Given the description of an element on the screen output the (x, y) to click on. 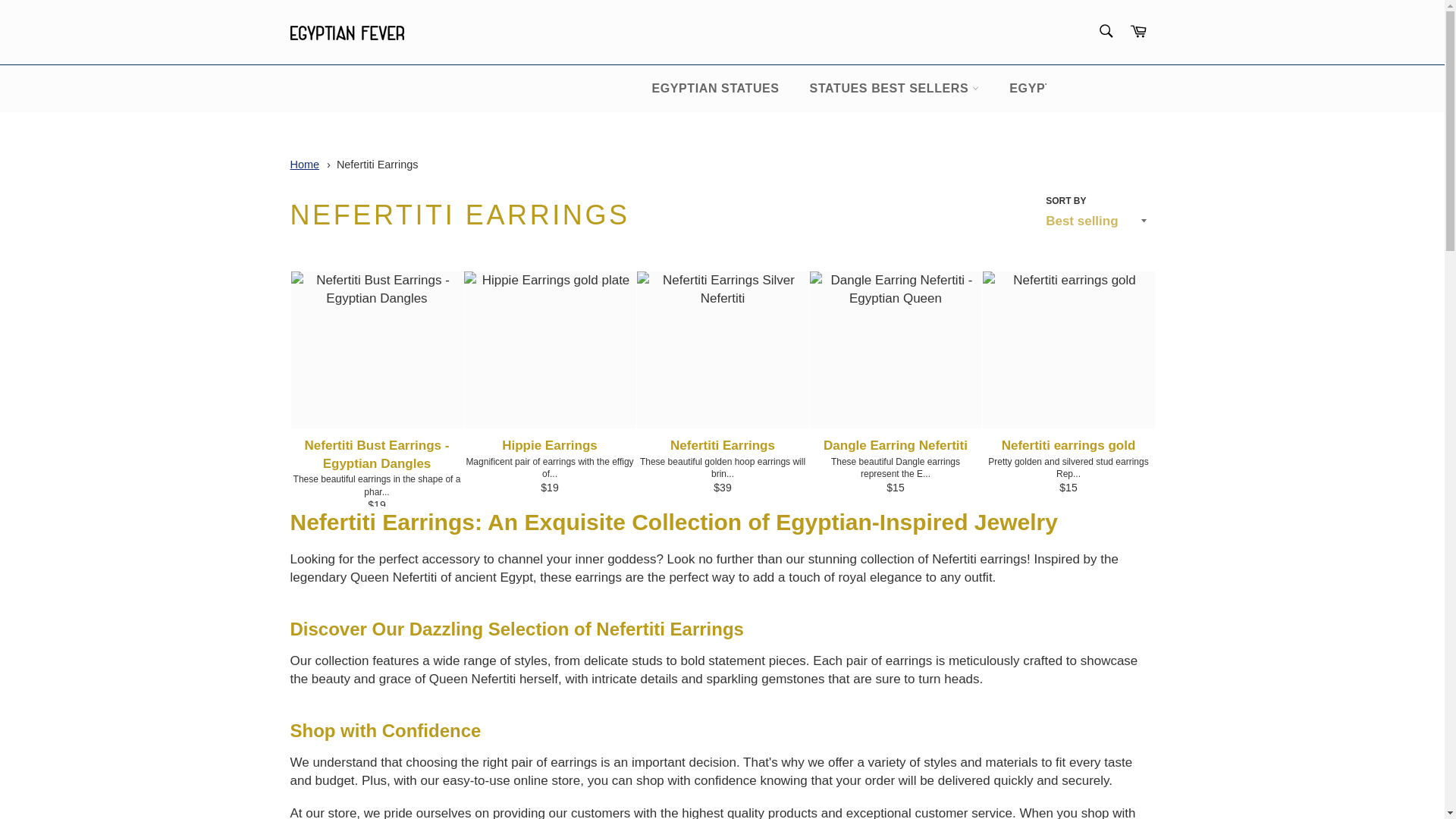
Cart (1138, 32)
Home (303, 164)
EGYPTIAN STATUES (714, 88)
Search (1104, 30)
